Given the description of an element on the screen output the (x, y) to click on. 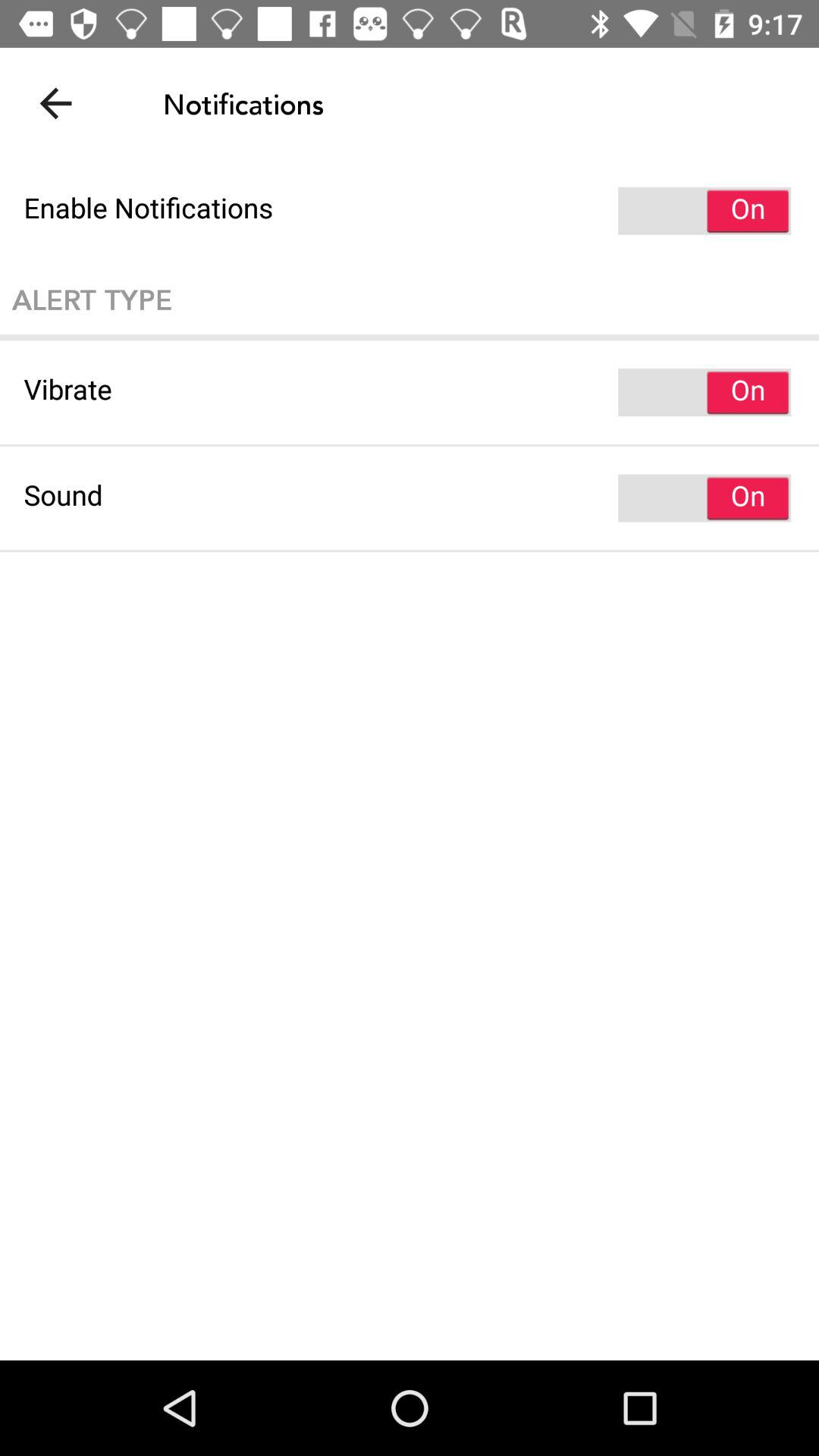
turn off icon next to the notifications item (55, 103)
